Given the description of an element on the screen output the (x, y) to click on. 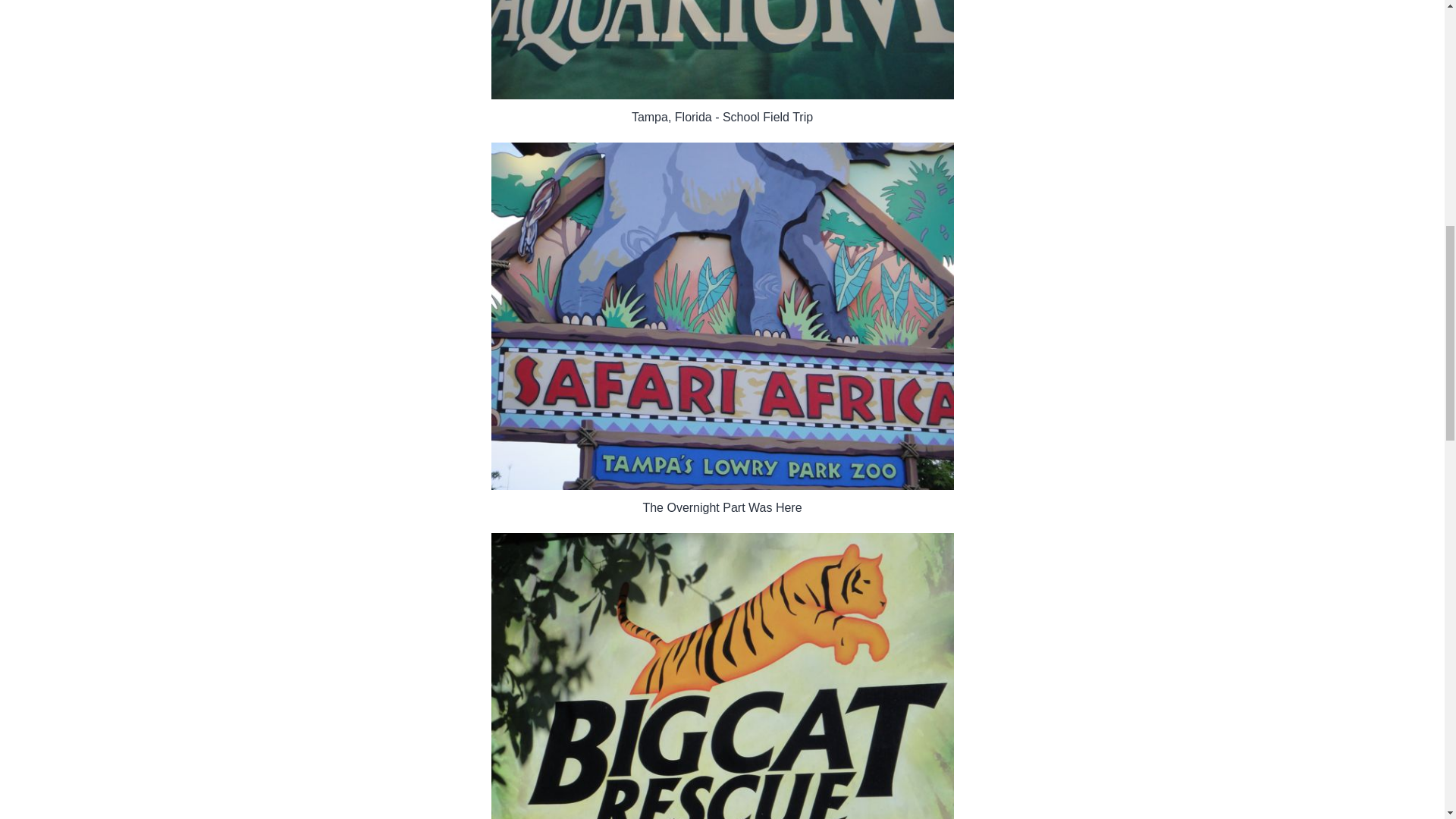
Tampa, Florida - School Field Trip (722, 49)
A Sanctuary (722, 676)
